Given the description of an element on the screen output the (x, y) to click on. 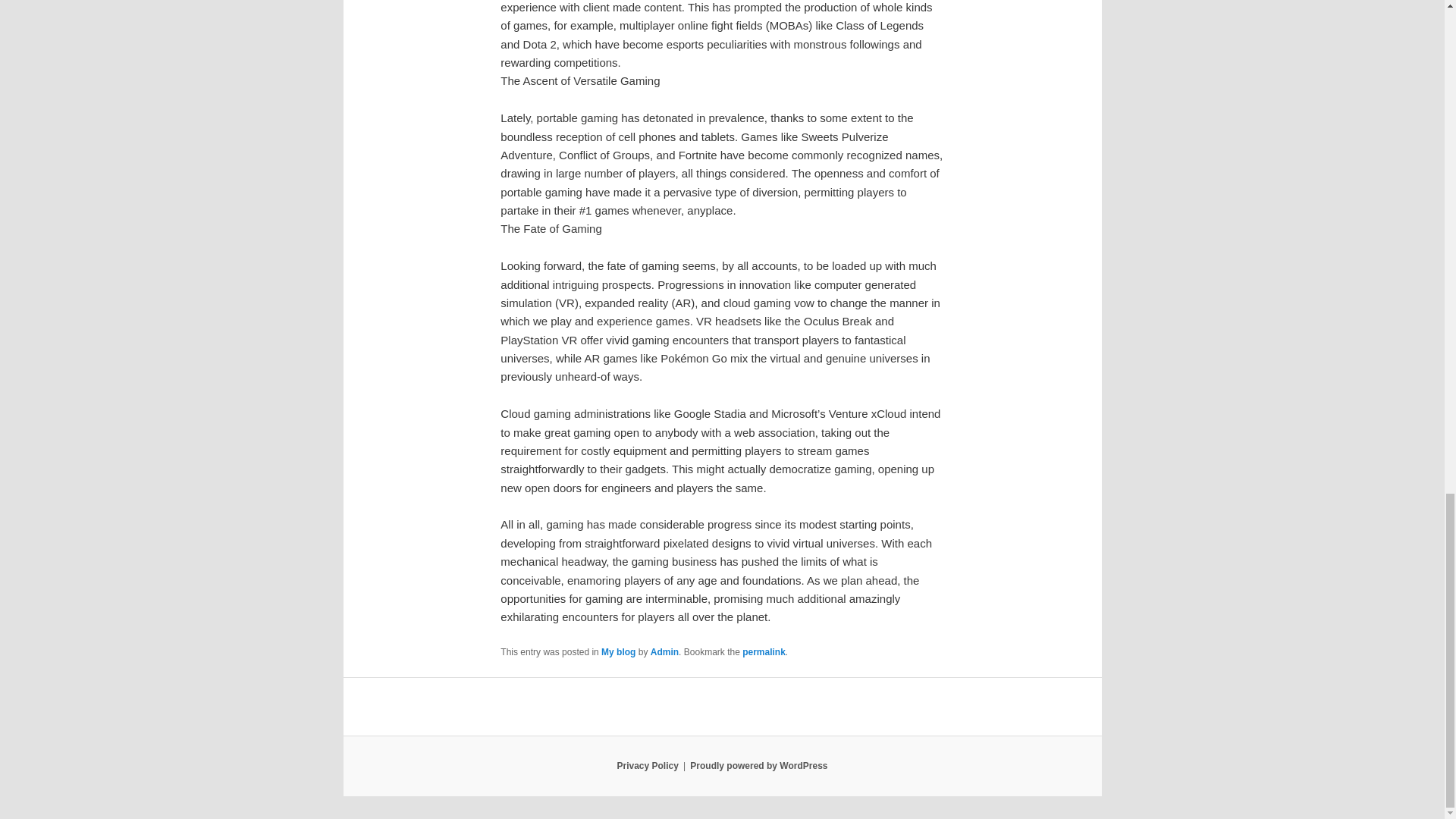
Semantic Personal Publishing Platform (758, 765)
permalink (764, 652)
Privacy Policy (646, 765)
Admin (664, 652)
Proudly powered by WordPress (758, 765)
My blog (617, 652)
